Given the description of an element on the screen output the (x, y) to click on. 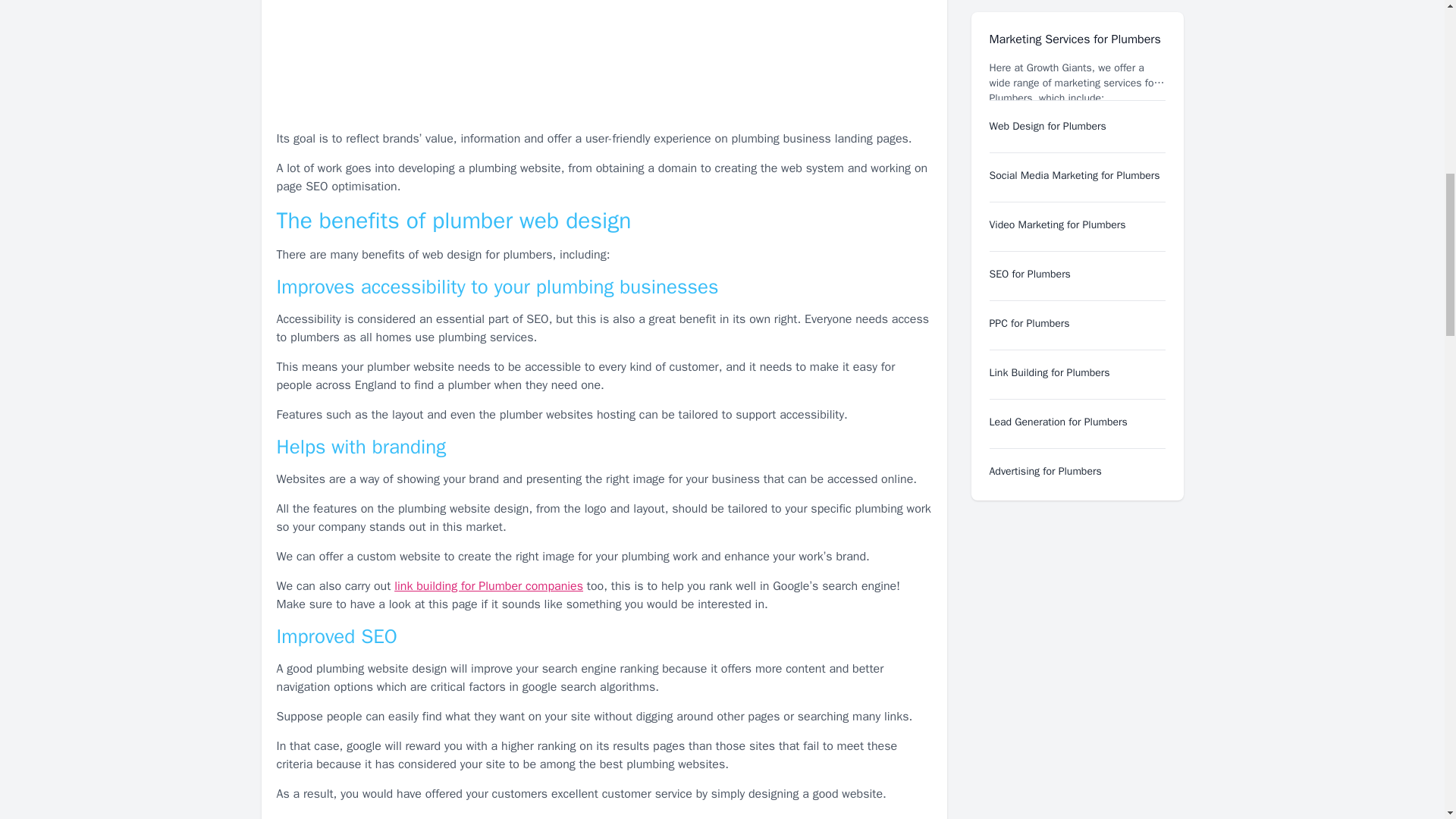
link building for Plumber companies (488, 585)
